Given the description of an element on the screen output the (x, y) to click on. 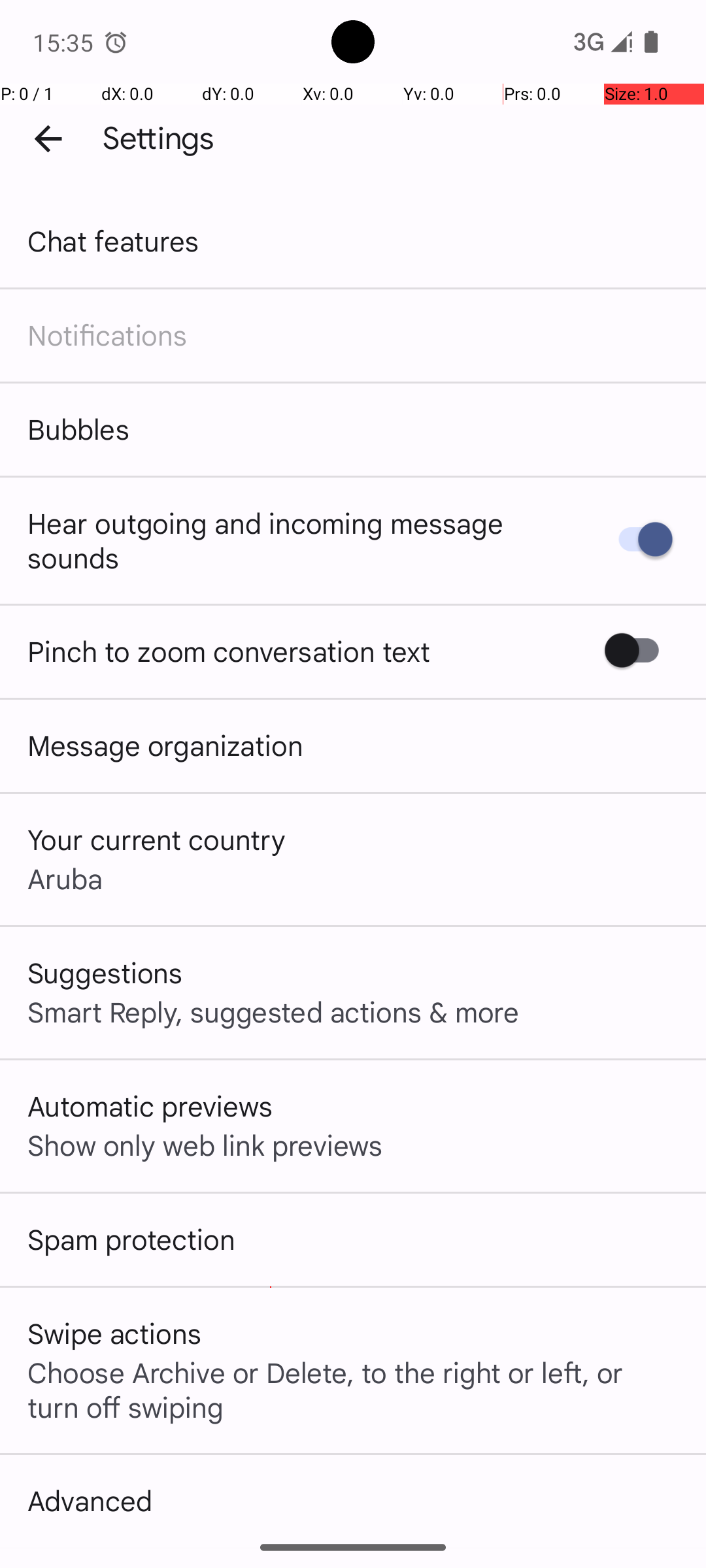
Chat features Element type: android.widget.TextView (113, 240)
Hear outgoing and incoming message sounds Element type: android.widget.TextView (299, 539)
Pinch to zoom conversation text Element type: android.widget.TextView (228, 650)
Message organization Element type: android.widget.TextView (165, 744)
Your current country Element type: android.widget.TextView (156, 838)
Aruba Element type: android.widget.TextView (64, 877)
Smart Reply, suggested actions & more Element type: android.widget.TextView (273, 1010)
Automatic previews Element type: android.widget.TextView (149, 1105)
Show only web link previews Element type: android.widget.TextView (205, 1144)
Spam protection Element type: android.widget.TextView (131, 1238)
Swipe actions Element type: android.widget.TextView (114, 1332)
Choose Archive or Delete, to the right or left, or turn off swiping Element type: android.widget.TextView (352, 1388)
